Given the description of an element on the screen output the (x, y) to click on. 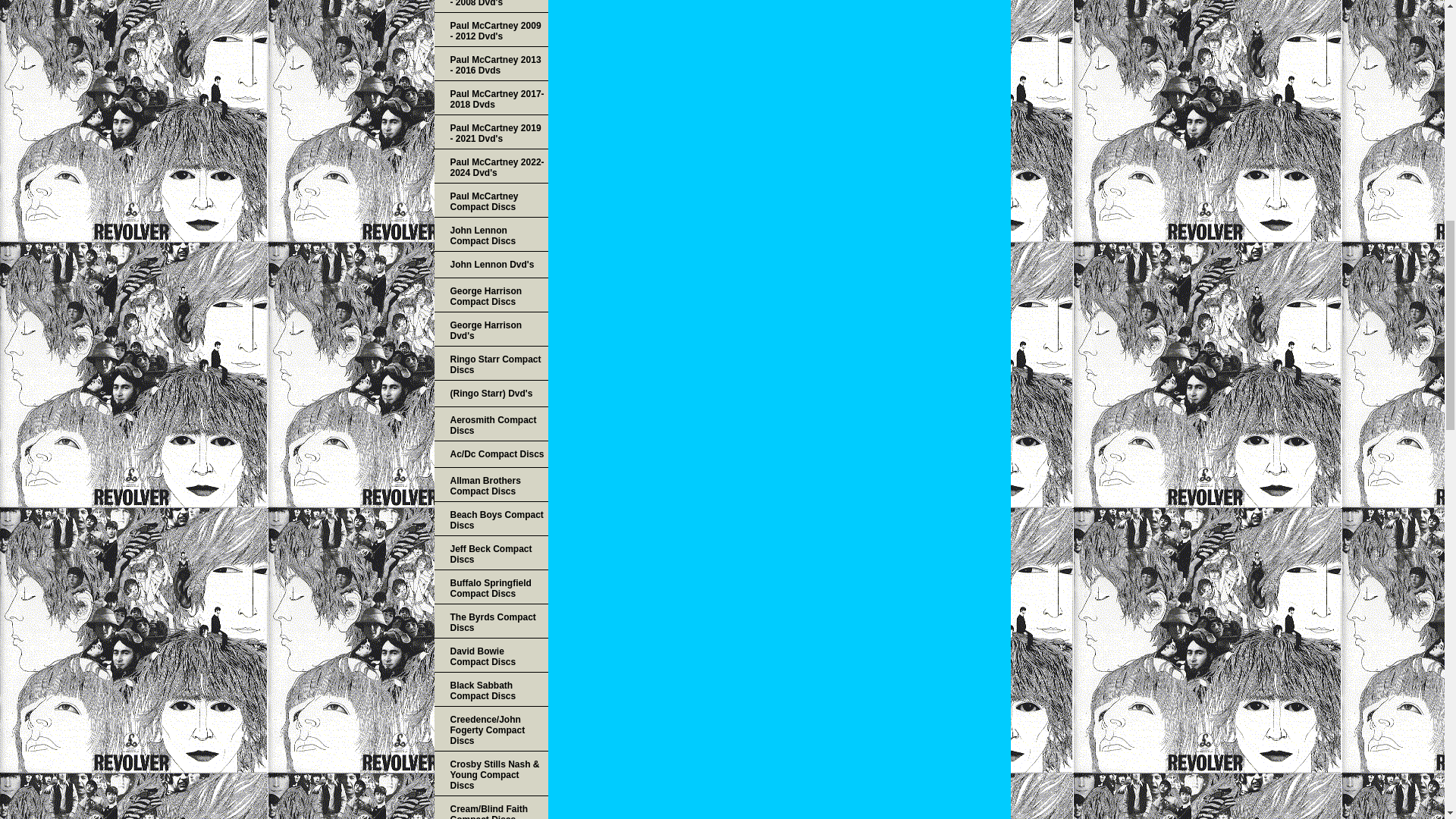
Paul McCartney 2013 - 2016 Dvds (490, 63)
Paul McCartney 2017- 2018 Dvds (490, 98)
Paul McCartney 2009 - 2012 Dvd's (490, 29)
Paul McCartney 2000 - 2008 Dvd's (490, 6)
Paul McCartney 2019 - 2021 Dvd's (490, 132)
Paul McCartney 2022-2024 Dvd's (490, 166)
